Given the description of an element on the screen output the (x, y) to click on. 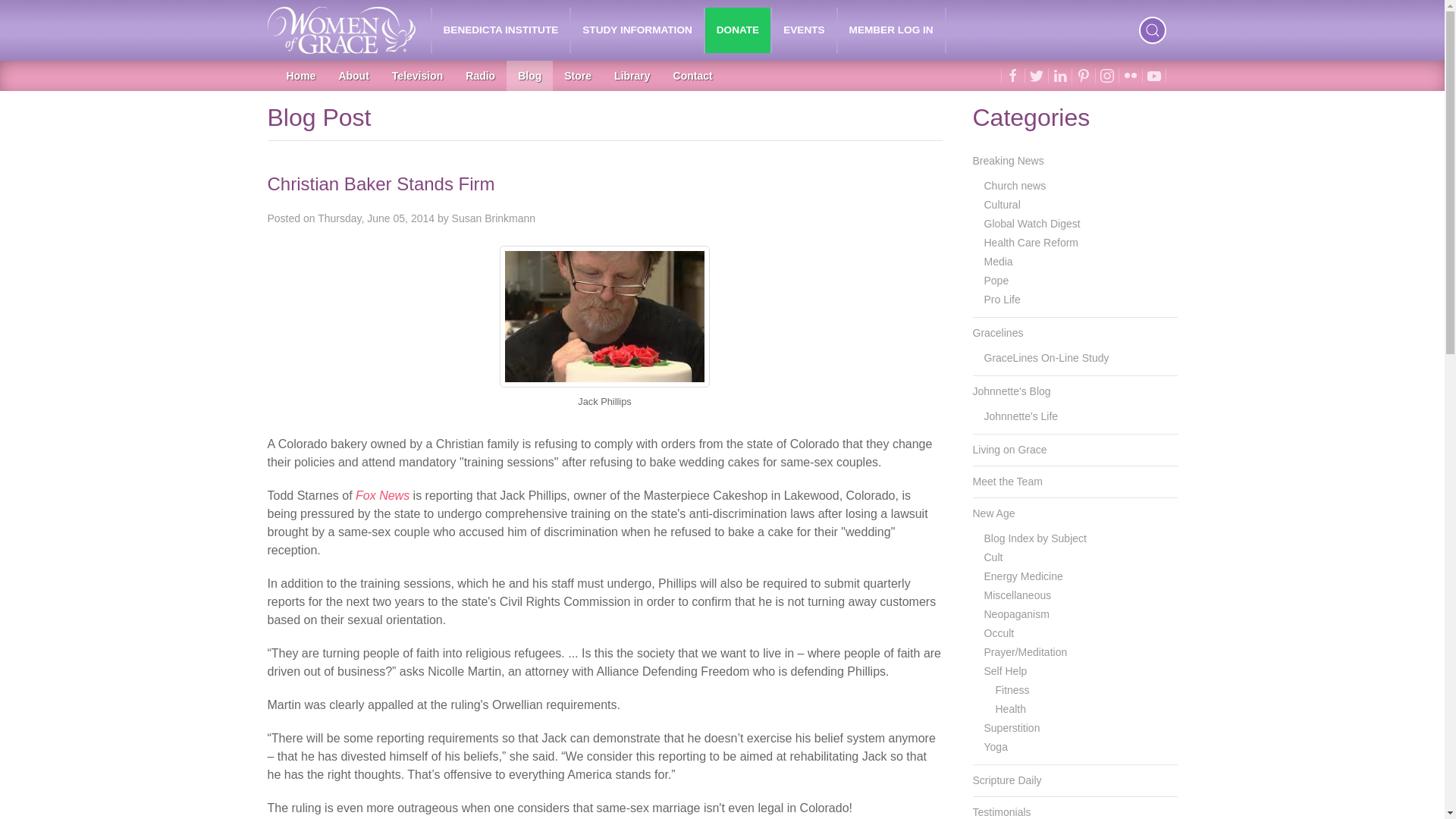
Library (631, 75)
About (353, 75)
Cultural (1080, 204)
STUDY INFORMATION (636, 30)
Radio (480, 75)
Television (417, 75)
Susan Brinkmann (493, 218)
DONATE (737, 30)
EVENTS (803, 30)
Home (300, 75)
